Given the description of an element on the screen output the (x, y) to click on. 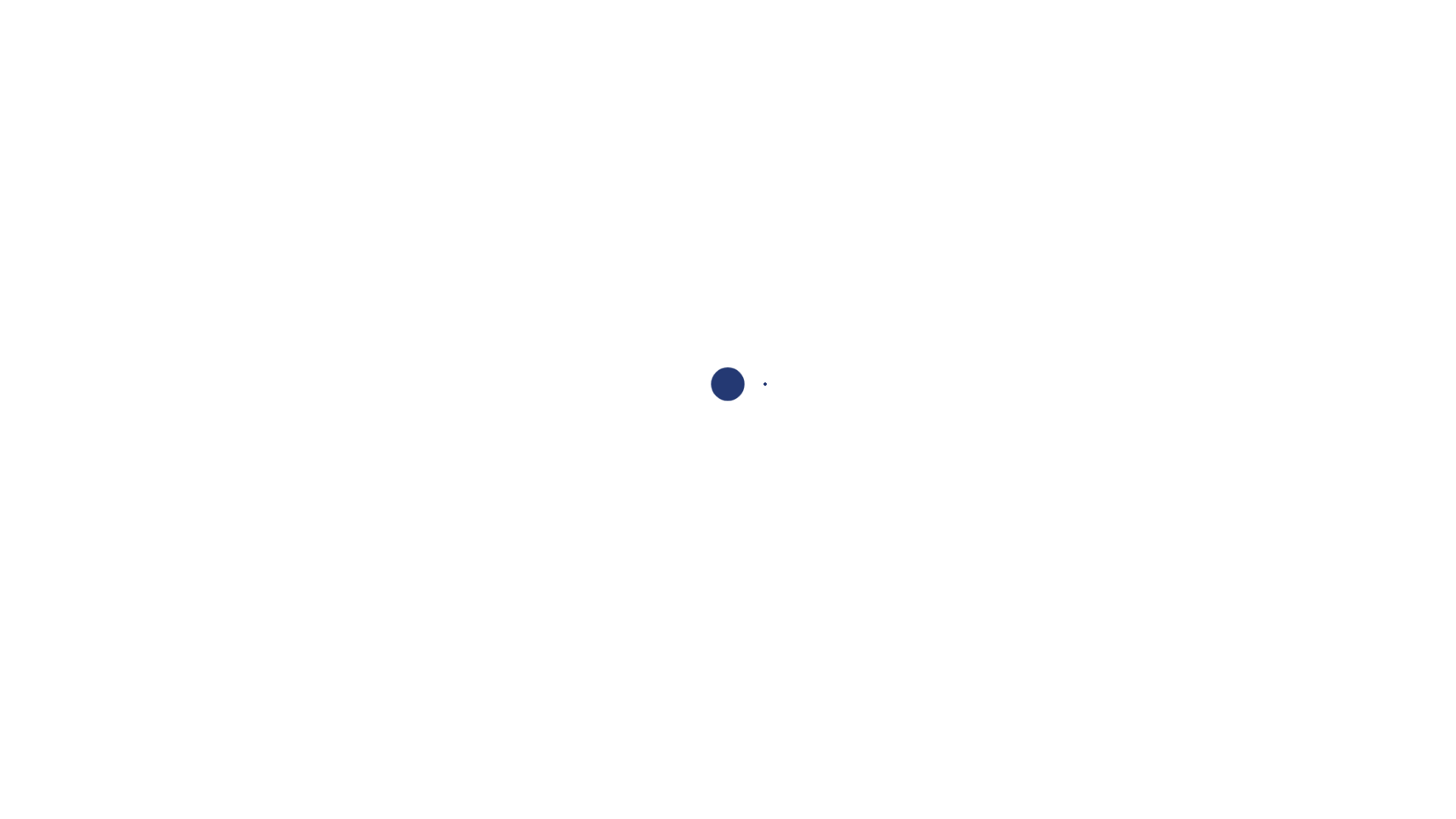
WOOD STAIN Element type: text (1112, 18)
LOCATIONS Element type: text (317, 471)
0 ITEMS Element type: text (1395, 14)
USCA_CORONADO_FOOTER Element type: hover (864, 560)
ALL PRODUCTS Element type: text (560, 120)
LOCATIONS Element type: text (846, 120)
PRIMERS Element type: text (864, 18)
USCA_CORONADO_FOOTER Element type: hover (318, 562)
INTERIOR Element type: text (940, 18)
COMMERCIAL Element type: text (1301, 18)
SPECIALTY Element type: text (1205, 18)
EXTERIOR Element type: text (1021, 18)
SHOP NOW Element type: text (863, 440)
USCA_CORONADO_FOOTER Element type: hover (588, 560)
HOME Element type: text (455, 120)
USCA_CORONADO_FOOTER Element type: hover (1134, 560)
ABOUT US Element type: text (318, 455)
SUNDRIES Element type: text (786, 18)
Keersoft Inc. Element type: text (297, 674)
SHOP BY COLOUR Element type: text (710, 120)
ABOUT US Element type: text (950, 120)
